Given the description of an element on the screen output the (x, y) to click on. 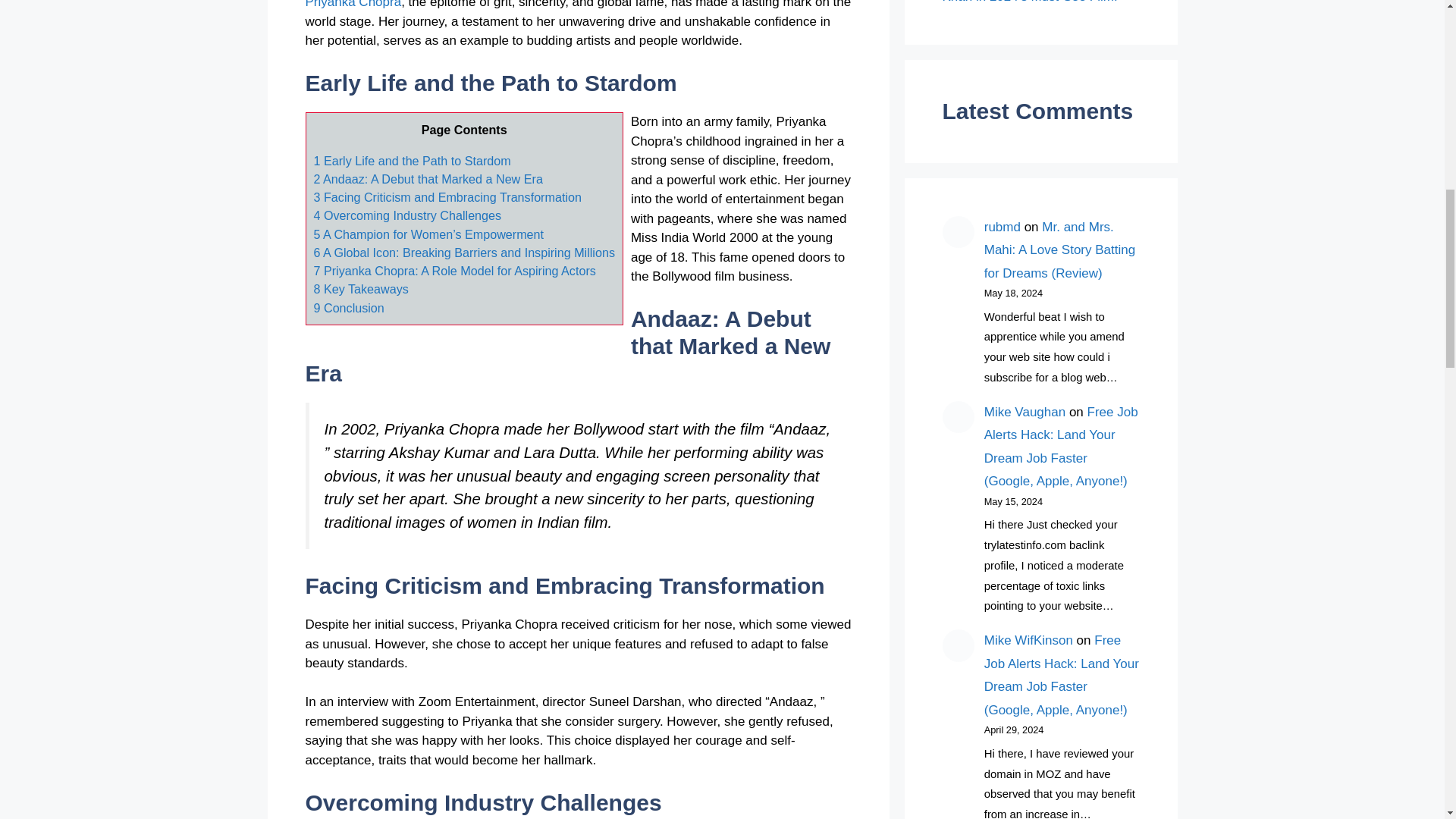
Scroll back to top (1406, 720)
Priyanka Chopra (352, 4)
9 Conclusion (349, 307)
3 Facing Criticism and Embracing Transformation (447, 196)
